Given the description of an element on the screen output the (x, y) to click on. 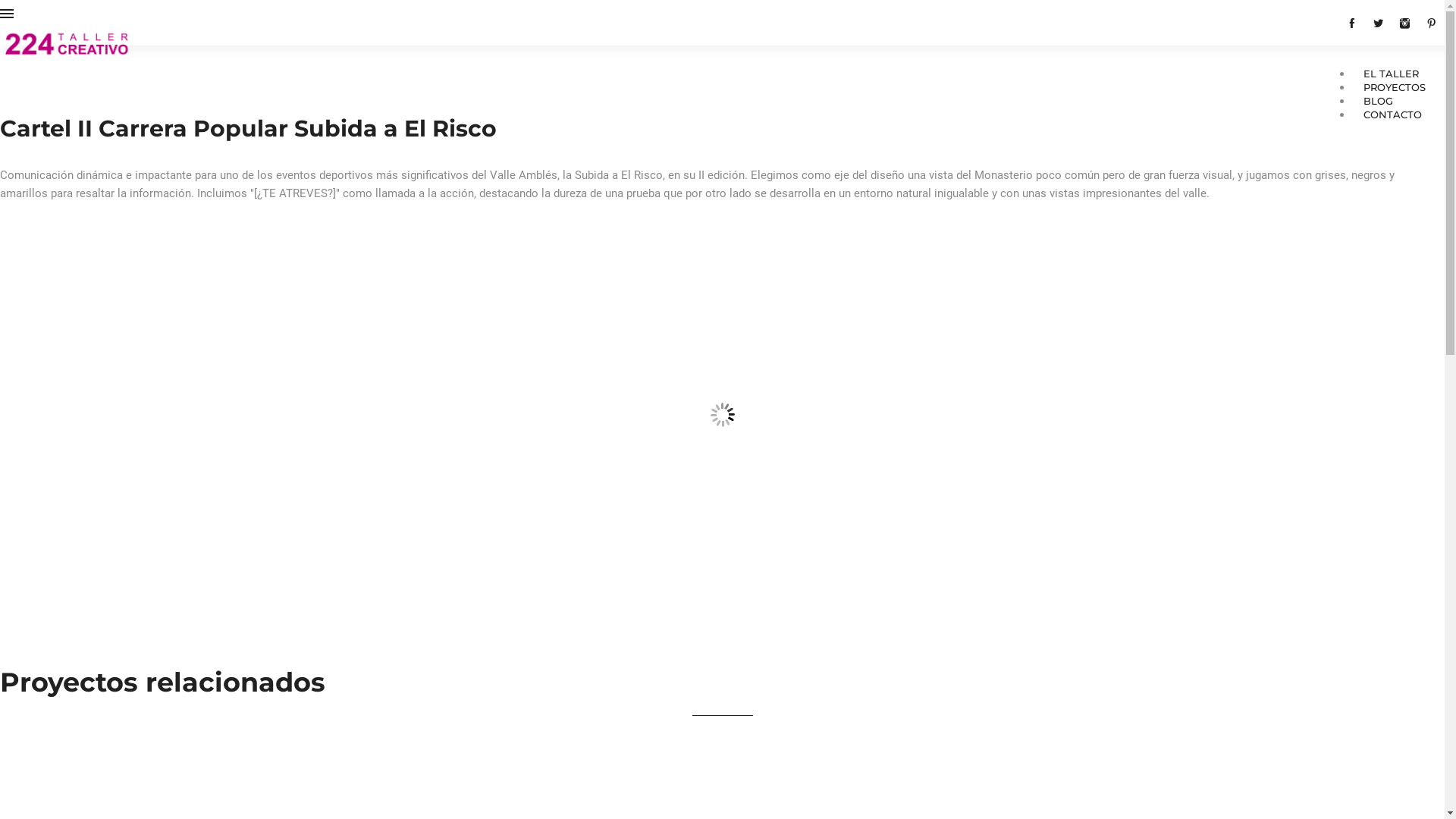
PROYECTOS Element type: text (1394, 86)
CONTACTO Element type: text (1392, 114)
BLOG Element type: text (1378, 100)
EL TALLER Element type: text (1391, 73)
